Given the description of an element on the screen output the (x, y) to click on. 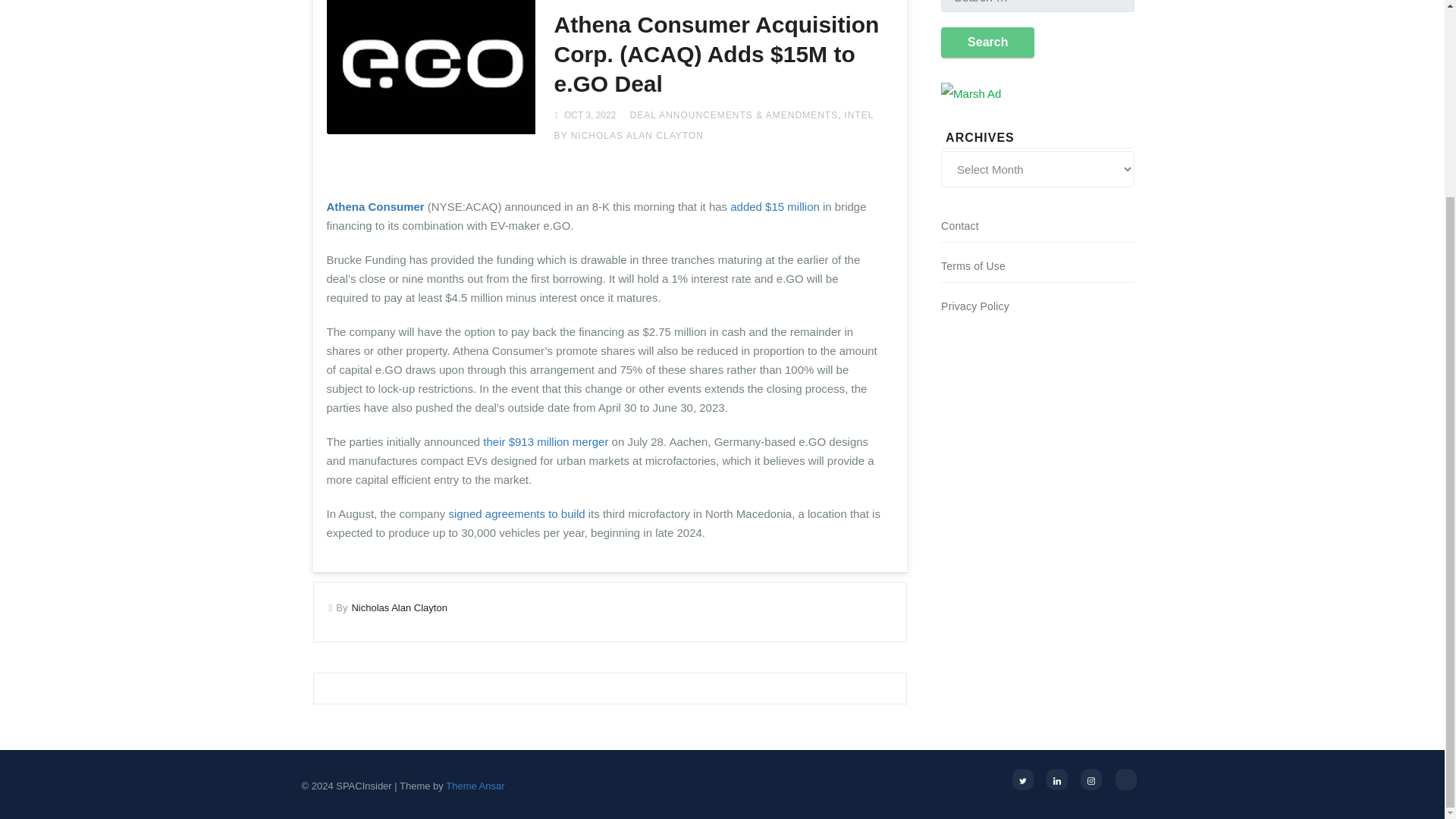
signed agreements to build (515, 513)
Apple Podcasts (1125, 779)
Search (986, 42)
LinkedIn (1056, 779)
Athena Consumer (374, 205)
INTEL (858, 114)
BY NICHOLAS ALAN CLAYTON (628, 135)
Contact (959, 225)
Terms of Use (973, 265)
Theme Ansar (474, 785)
Privacy Policy (974, 306)
Instagram (1091, 779)
Twitter (1022, 779)
Nicholas Alan Clayton (398, 607)
